Given the description of an element on the screen output the (x, y) to click on. 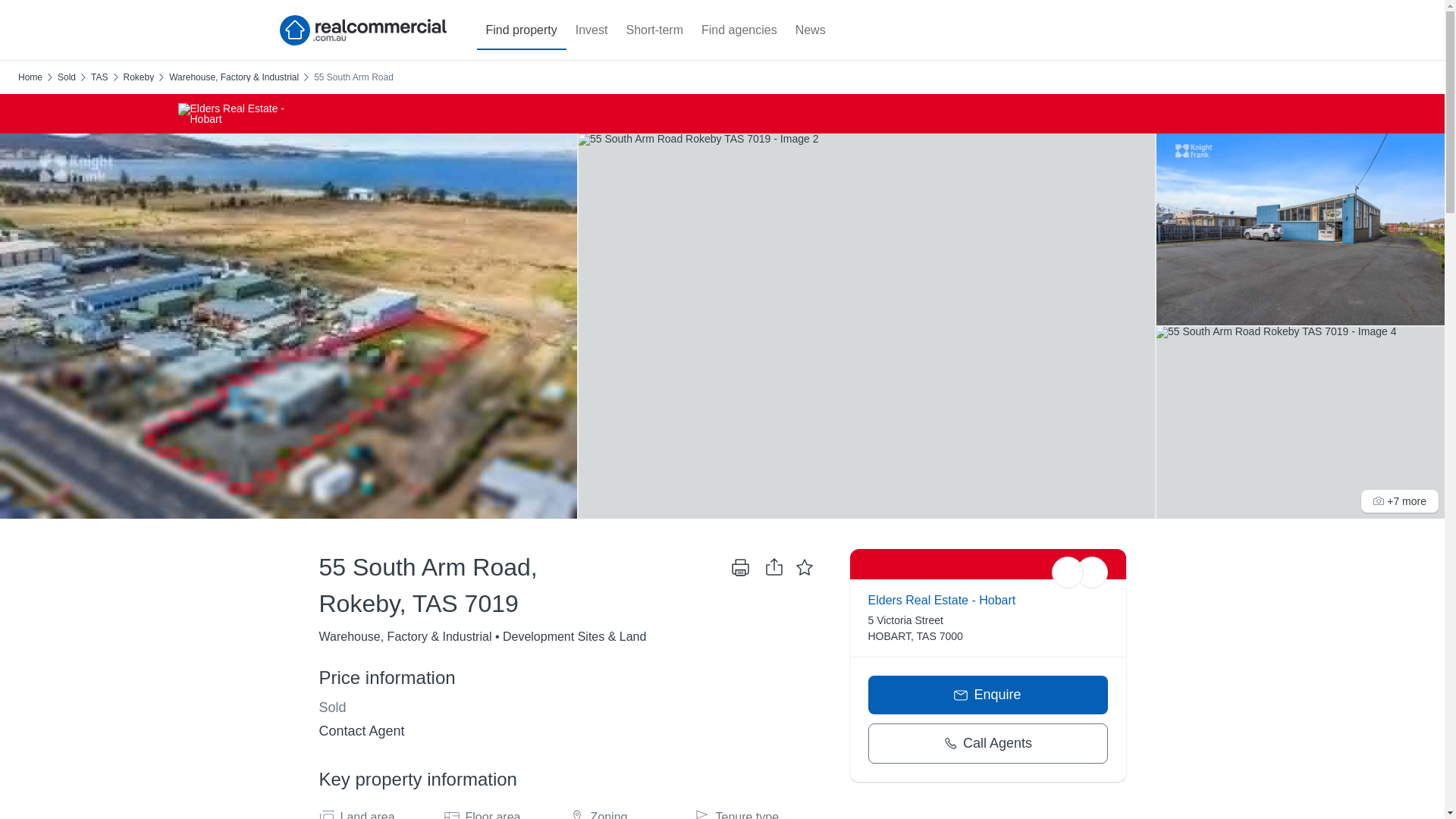
Elders Real Estate - Hobart (940, 599)
Find property (521, 30)
Rokeby (138, 76)
TAS (98, 76)
Call Agents (986, 743)
55 South Arm Road (353, 76)
Rokeby (138, 76)
Sold (66, 76)
Home (29, 76)
Invest (591, 30)
